Given the description of an element on the screen output the (x, y) to click on. 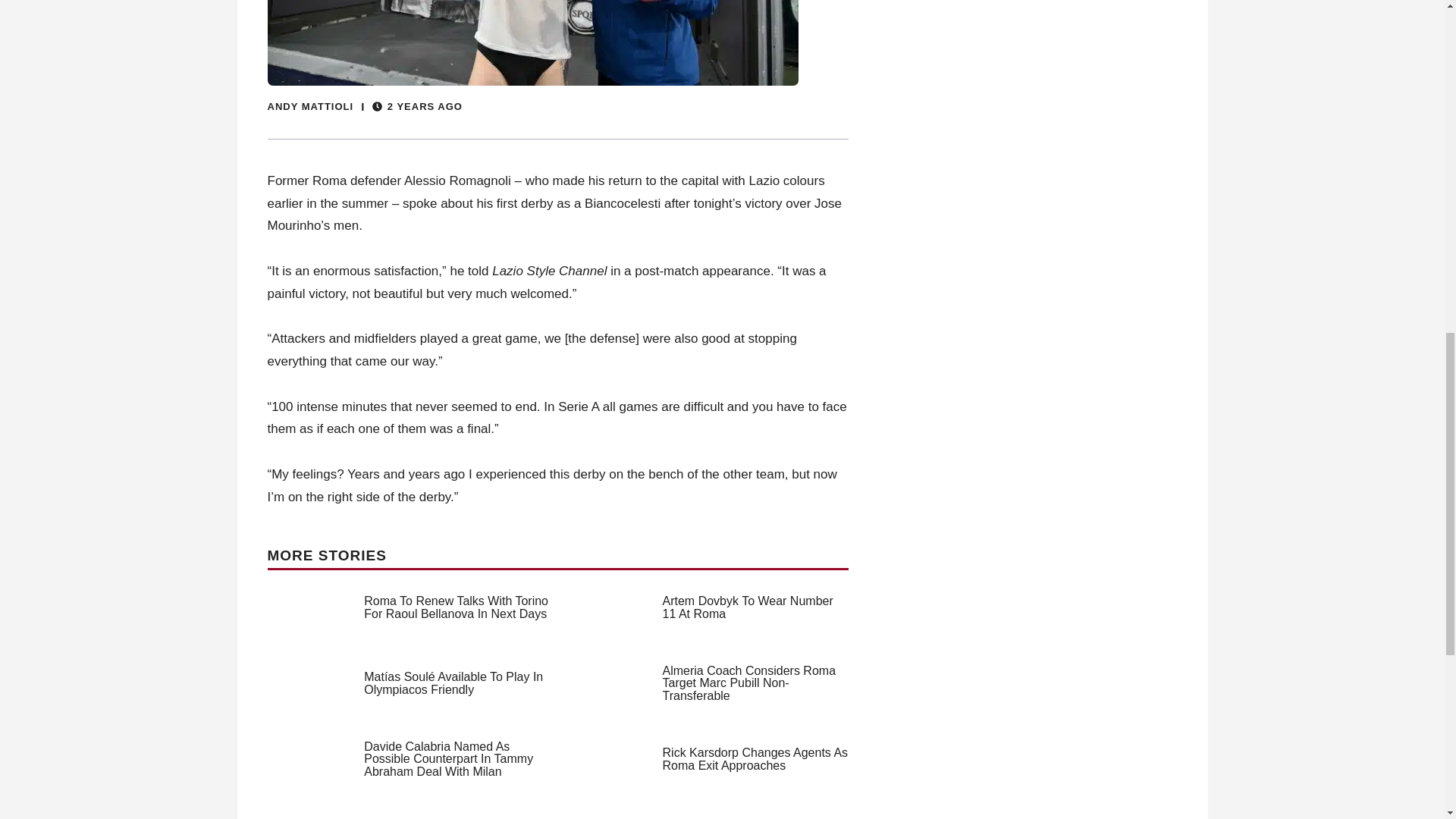
Artem Dovbyk To Wear Number 11 At Roma (747, 606)
Rick Karsdorp Changes Agents As Roma Exit Approaches (755, 759)
